Given the description of an element on the screen output the (x, y) to click on. 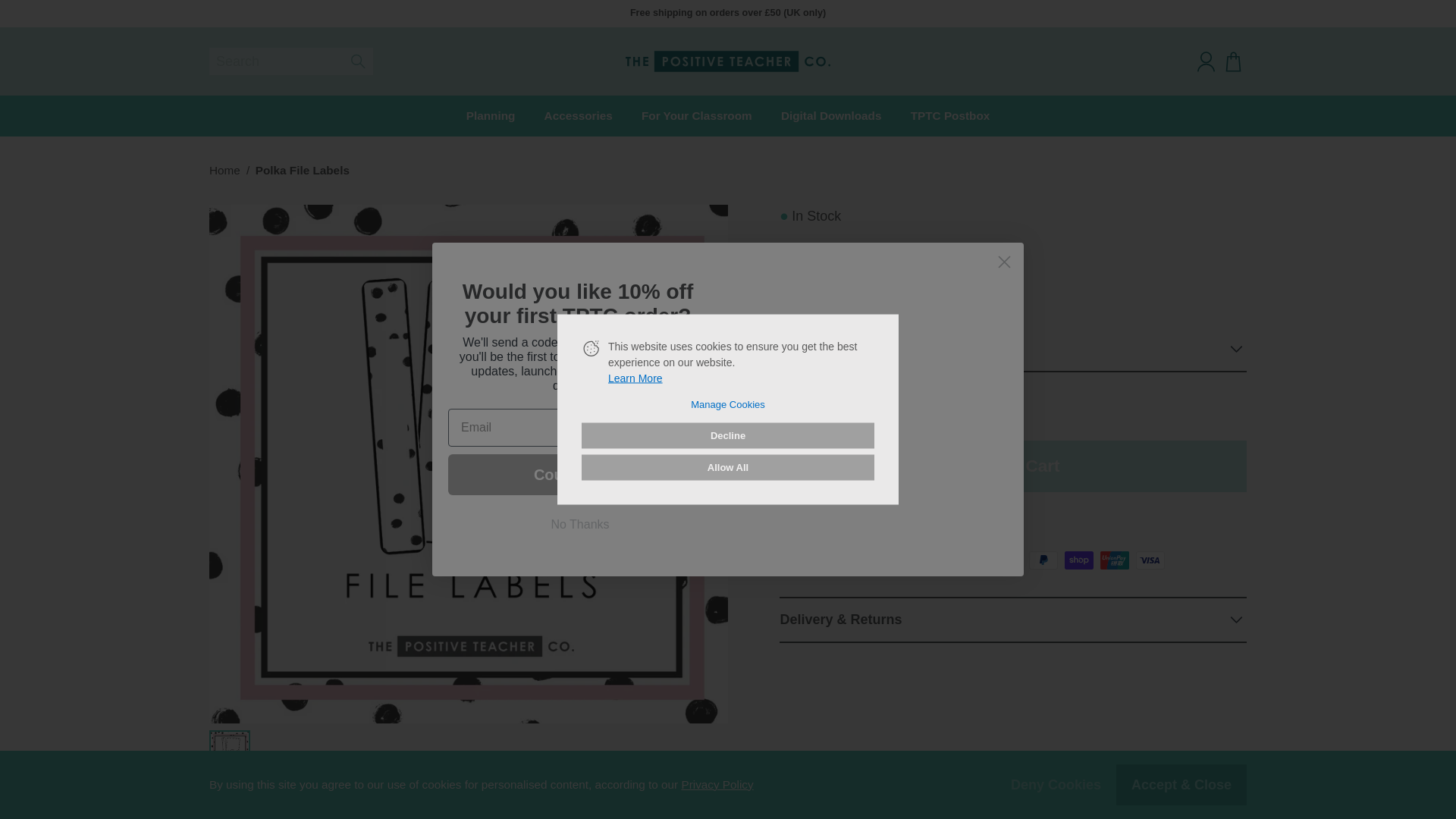
Search (290, 61)
Planning (490, 115)
Privacy Policy (716, 784)
Close dialog 1 (1004, 261)
1 (833, 409)
Accessories (577, 115)
